Given the description of an element on the screen output the (x, y) to click on. 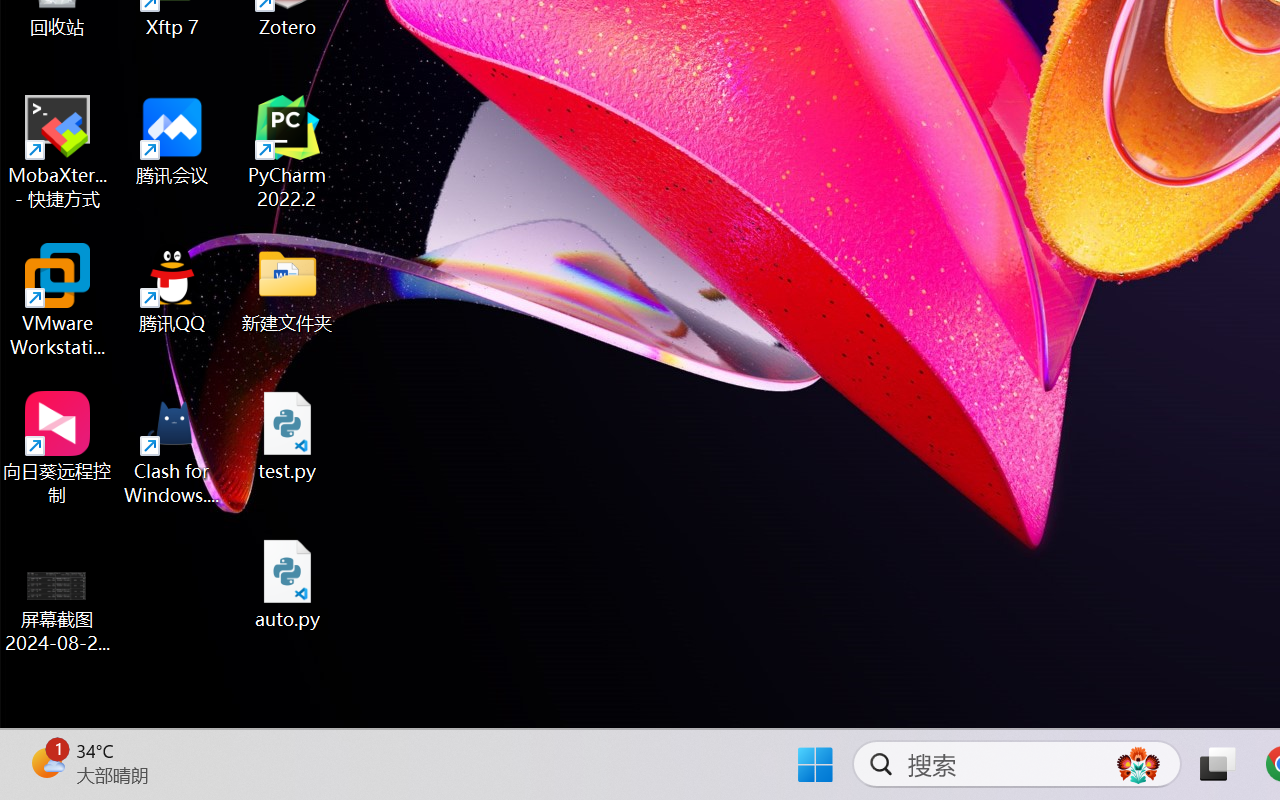
VMware Workstation Pro (57, 300)
